Given the description of an element on the screen output the (x, y) to click on. 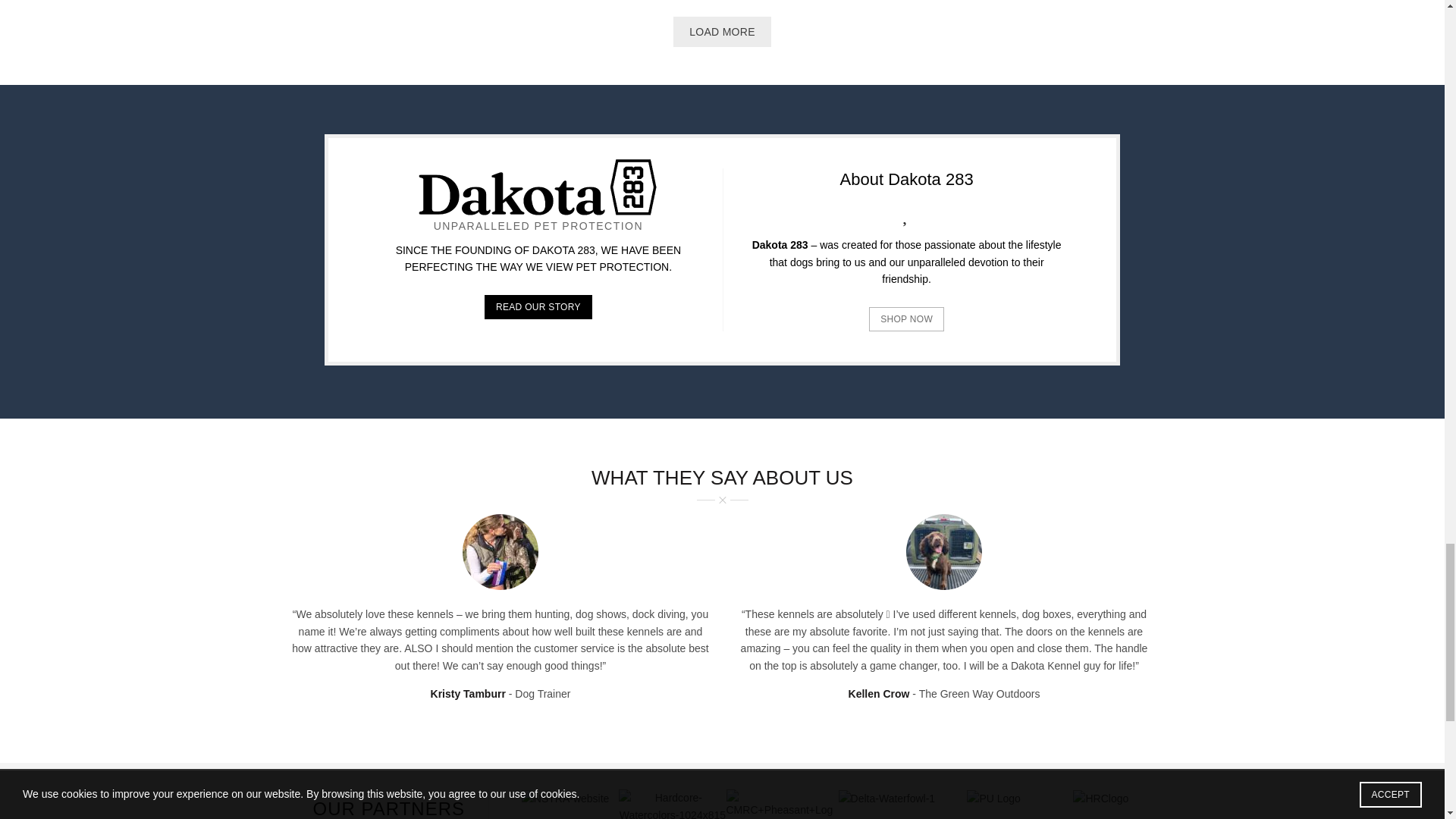
Medium-Olive-D283 (943, 551)
NSTRA-website (565, 798)
Load More (721, 31)
Hardcore-Watercolors-1024x815 (671, 804)
Dakota-283-Master-Website-Logo (538, 187)
HRClogo (1100, 798)
Kristy-Tamburr (500, 551)
Delta-Waterfowl-1 (887, 798)
PU Logo (993, 798)
